Given the description of an element on the screen output the (x, y) to click on. 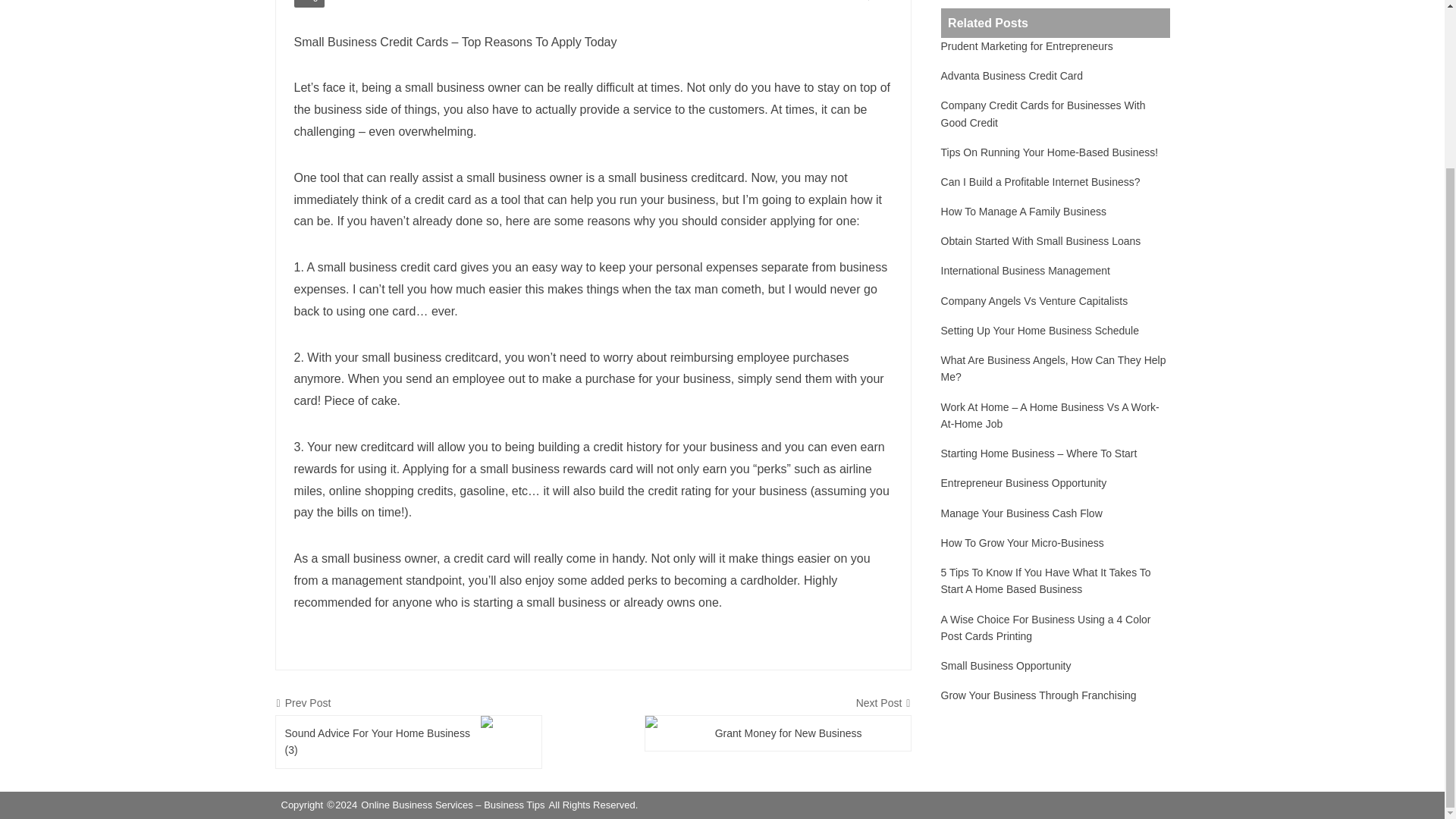
Manage Your Business Cash Flow (1021, 513)
Prudent Marketing for Entrepreneurs (1026, 45)
Setting Up Your Home Business Schedule (1040, 330)
Entrepreneur Business Opportunity (1023, 483)
Company Angels Vs Venture Capitalists (1034, 300)
Obtain Started With Small Business Loans (1040, 240)
Can I Build a Profitable Internet Business? (1040, 181)
How To Manage A Family Business (1023, 211)
Prev Post (409, 702)
